Given the description of an element on the screen output the (x, y) to click on. 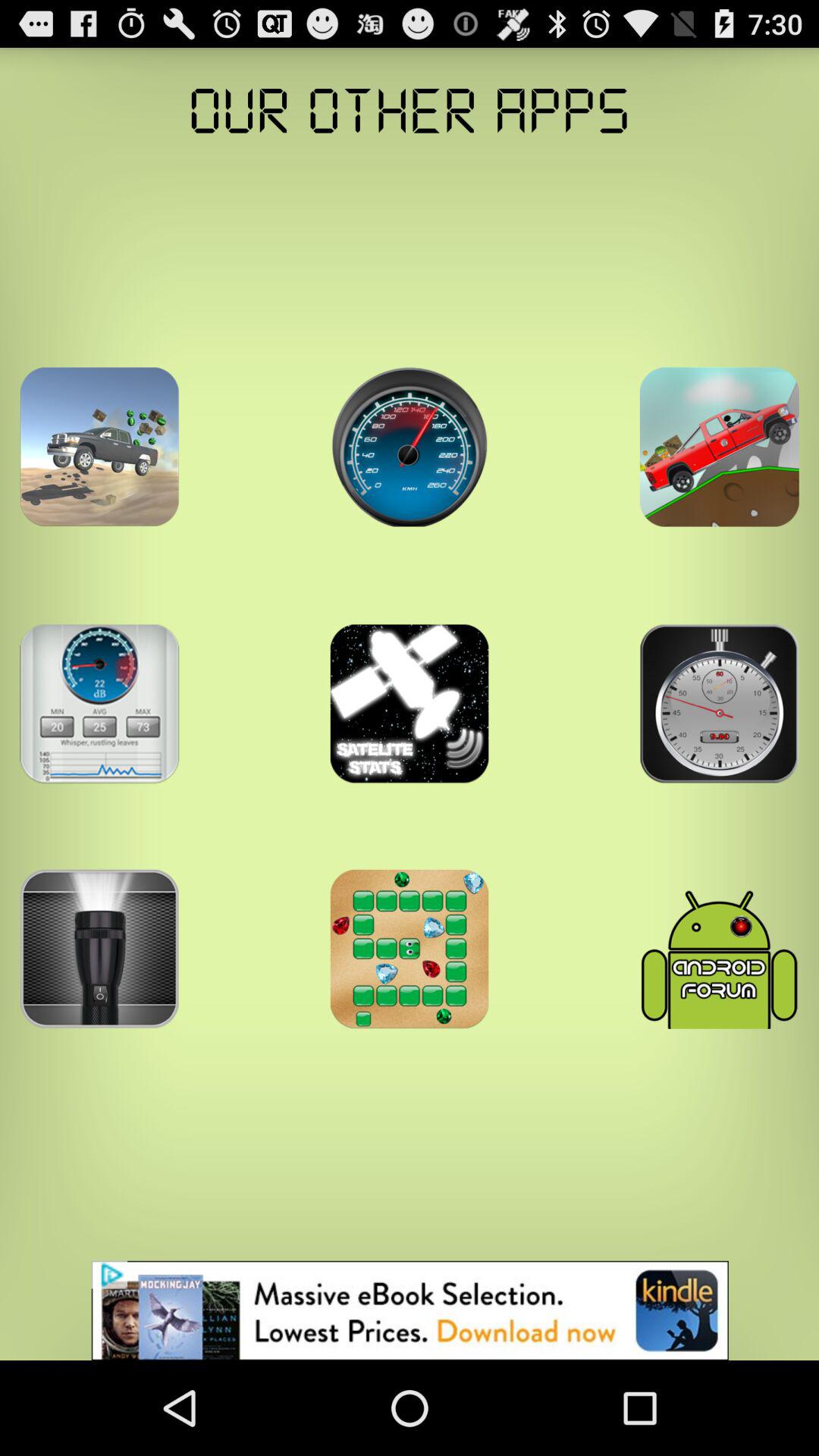
opens displayed app in appstore (99, 446)
